Given the description of an element on the screen output the (x, y) to click on. 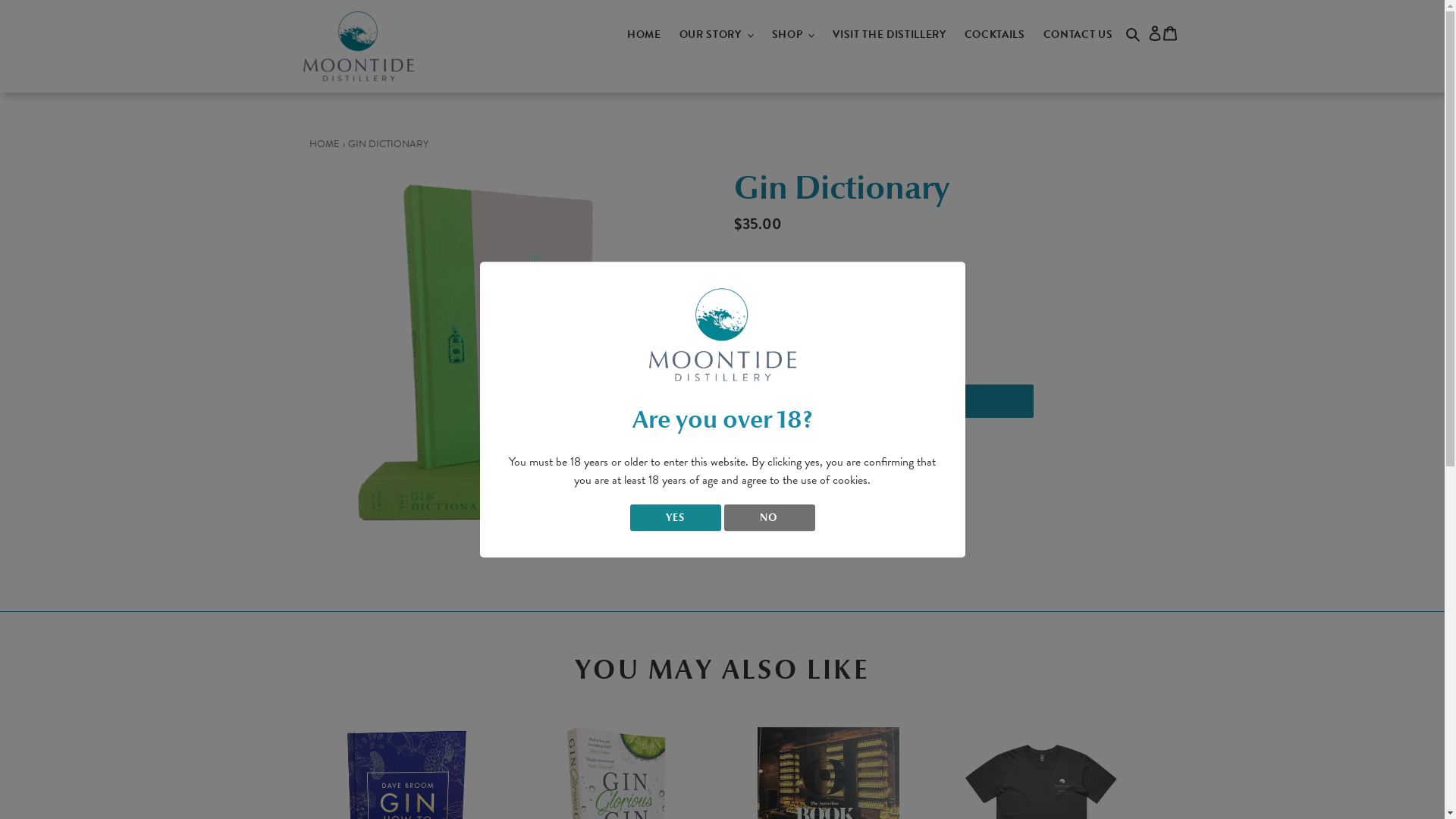
CONTACT US Element type: text (1077, 33)
HOME Element type: text (324, 143)
Search Element type: text (1133, 32)
Shipping Element type: text (808, 290)
VISIT THE DISTILLERY Element type: text (889, 33)
ADD TO CART Element type: text (884, 400)
Log in Element type: text (1153, 31)
Cart Element type: text (1168, 31)
PIN IT
PIN ON PINTEREST Element type: text (835, 445)
COCKTAILS Element type: text (994, 33)
NO Element type: text (768, 517)
OUR STORY Element type: text (716, 33)
SHARE
SHARE ON FACEBOOK Element type: text (767, 445)
HOME Element type: text (643, 33)
YES Element type: text (674, 517)
SHOP Element type: text (793, 33)
